Given the description of an element on the screen output the (x, y) to click on. 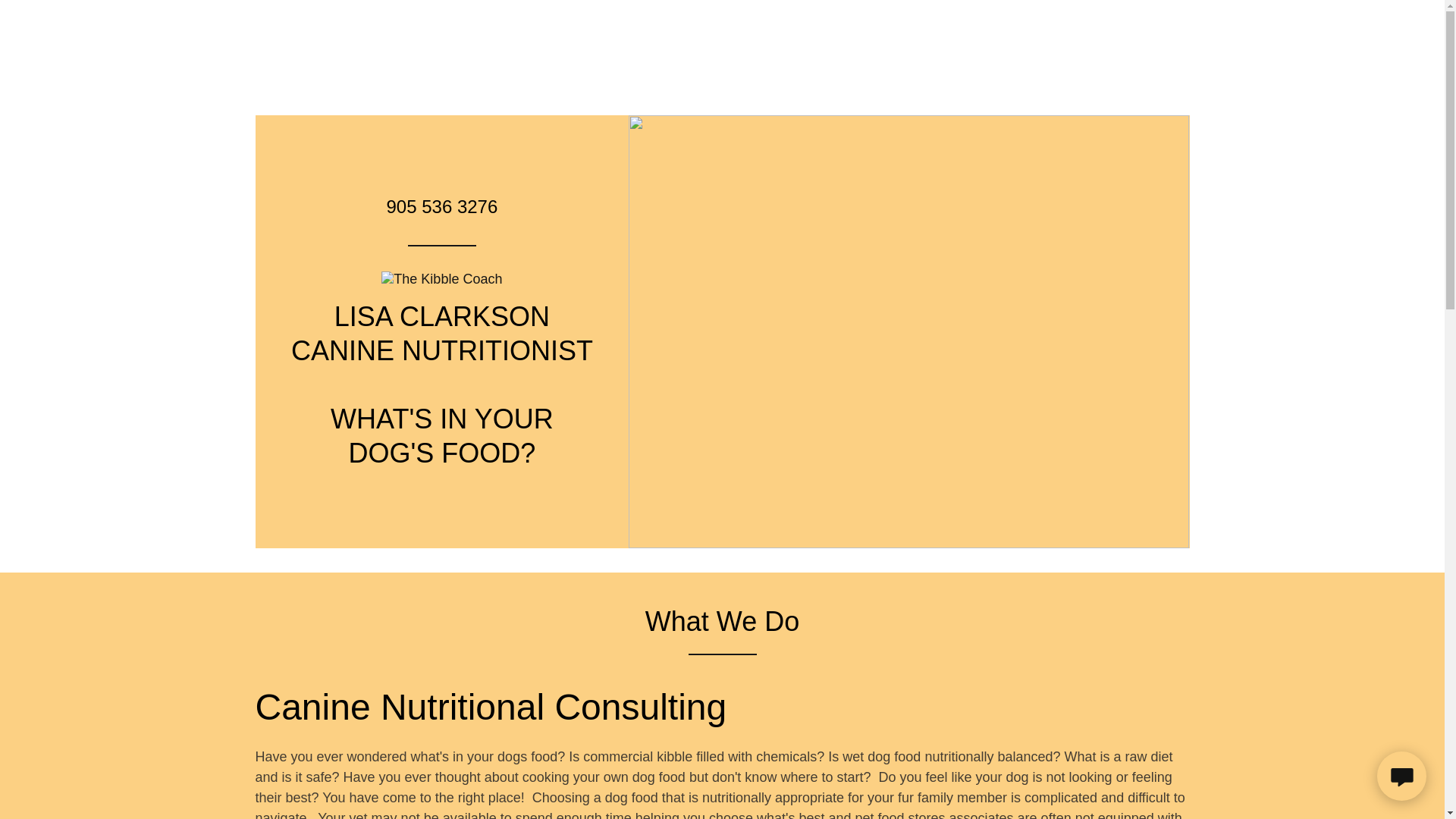
905 536 3276 (441, 206)
The Kibble Coach (441, 278)
